Given the description of an element on the screen output the (x, y) to click on. 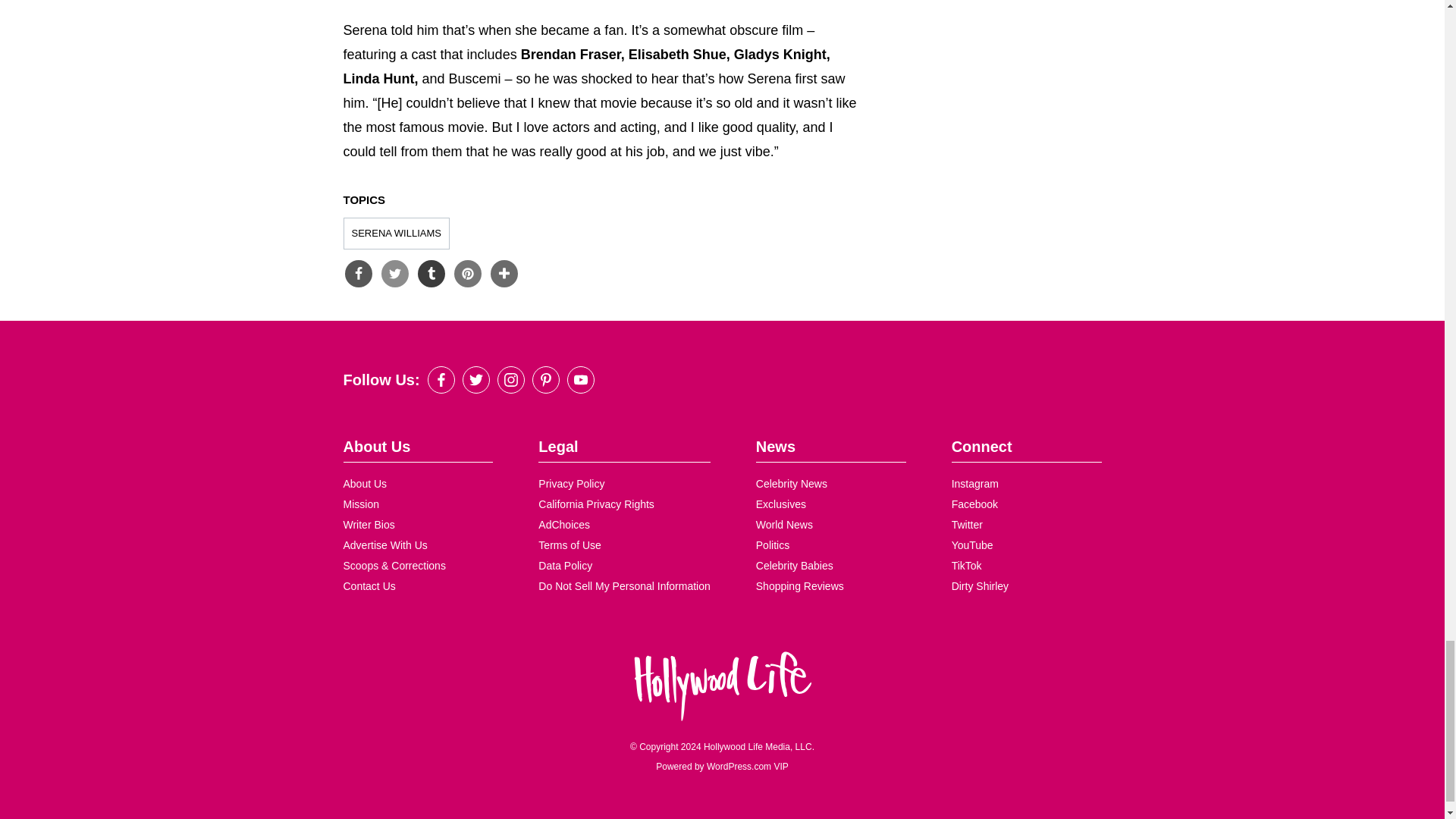
Share on Facebook (357, 273)
Tweet (393, 273)
More Share Options (502, 273)
Pin it (466, 273)
Post to Tumblr (430, 273)
